Given the description of an element on the screen output the (x, y) to click on. 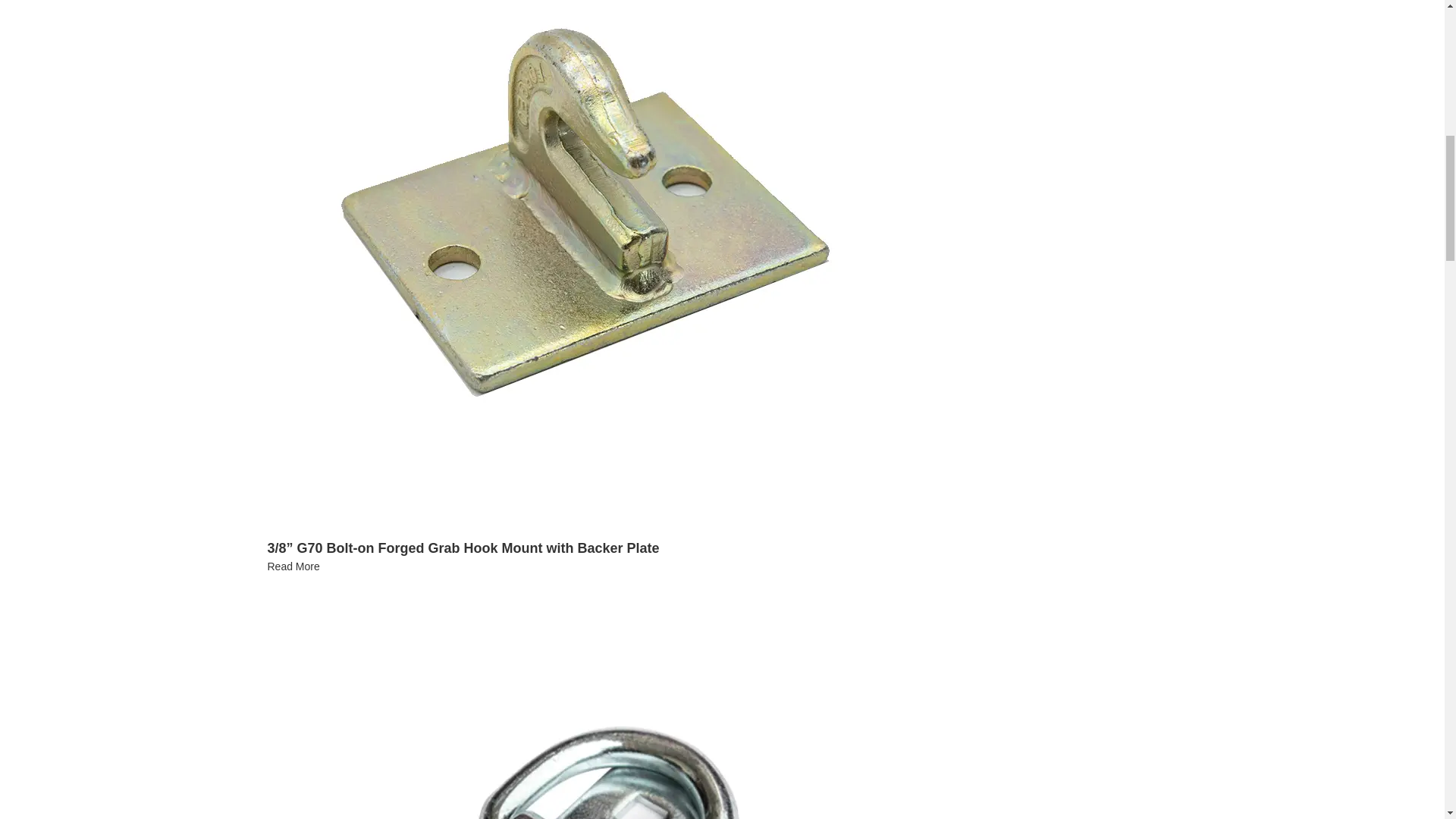
Read More (292, 566)
